Given the description of an element on the screen output the (x, y) to click on. 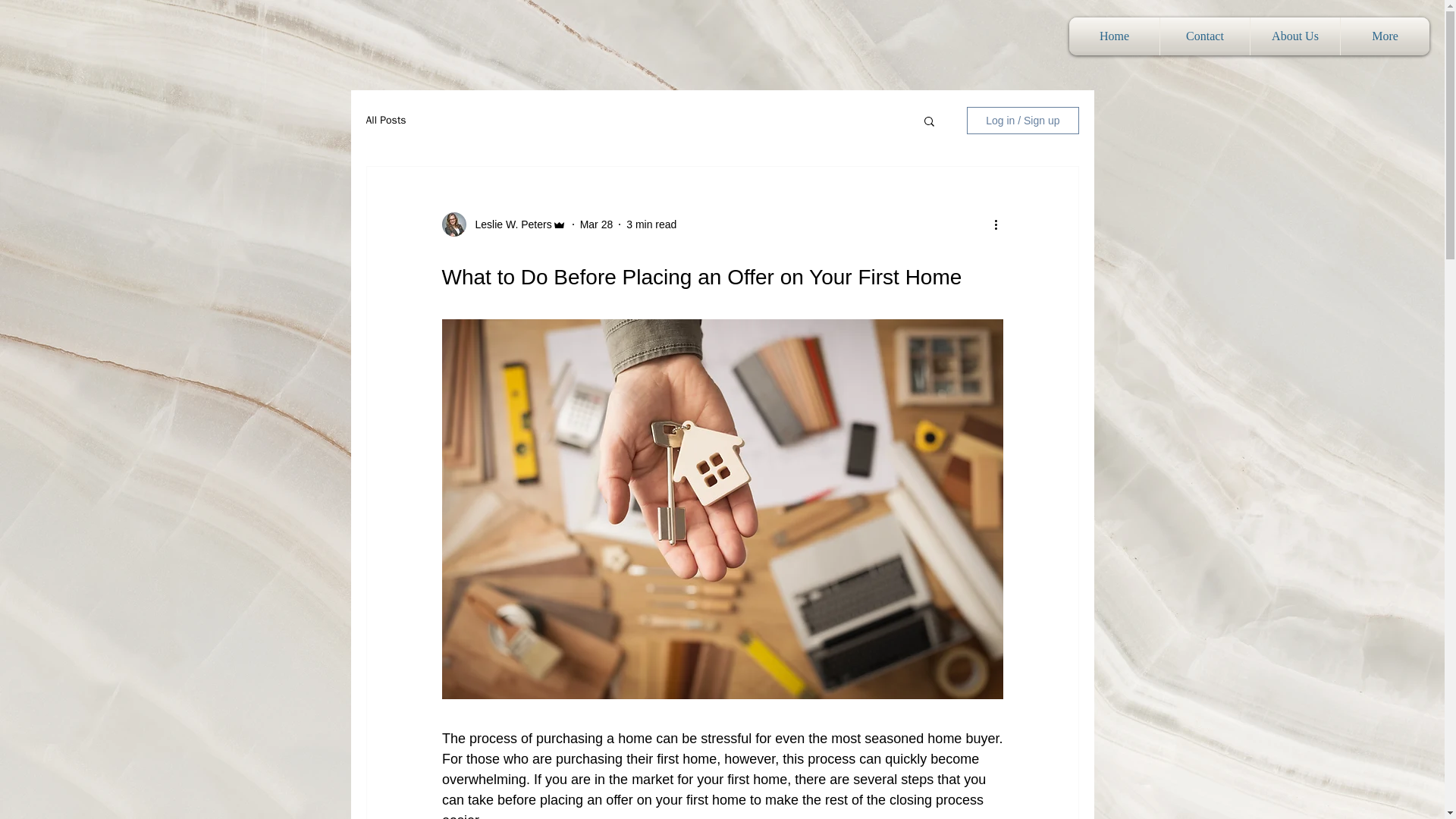
Contact (1204, 36)
3 min read (651, 224)
Mar 28 (595, 224)
Home (1113, 36)
About Us (1294, 36)
Leslie W. Peters (508, 224)
All Posts (385, 120)
